Given the description of an element on the screen output the (x, y) to click on. 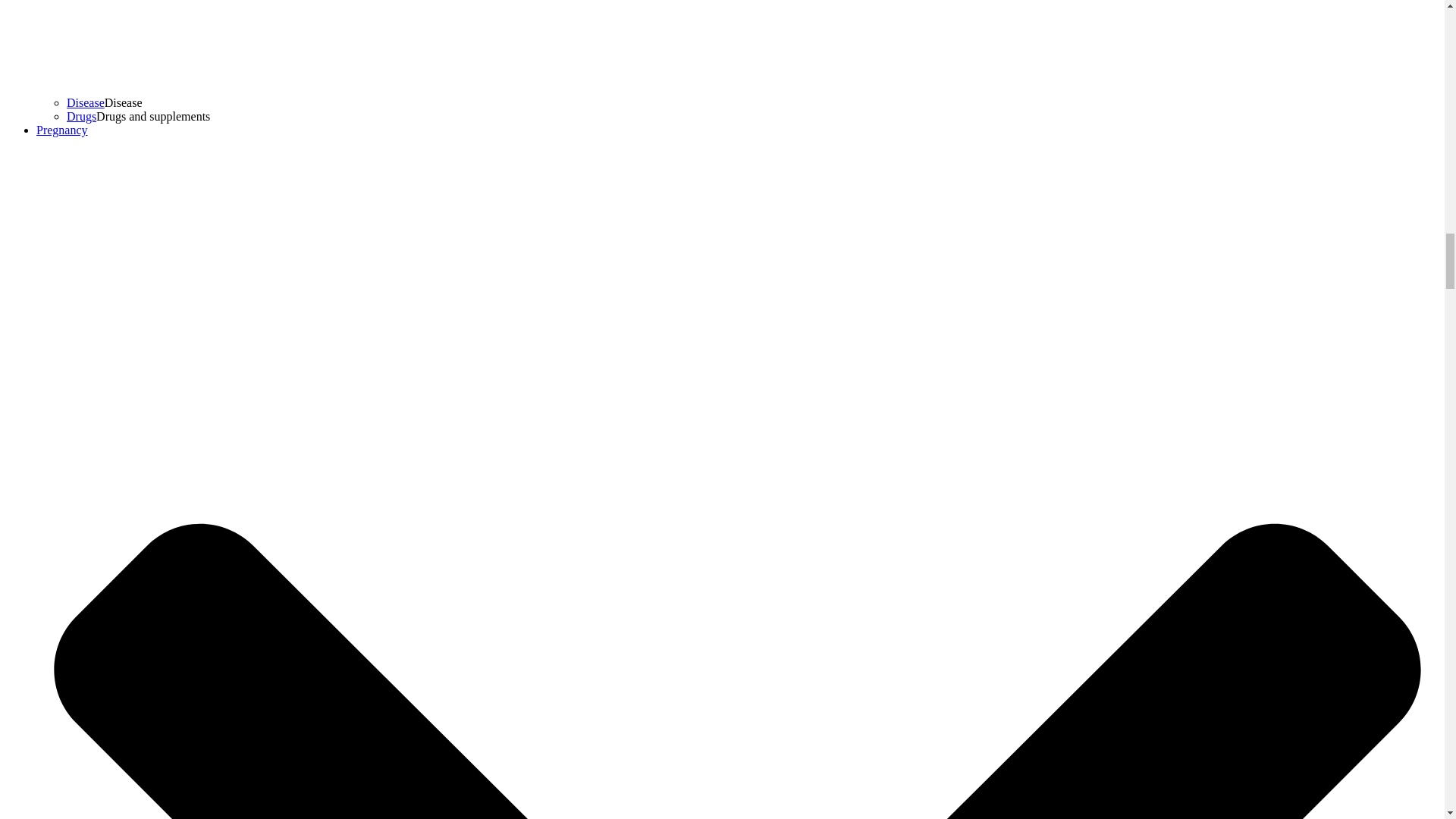
Disease (85, 102)
Drugs (81, 115)
Disease (85, 102)
Drugs (81, 115)
